Given the description of an element on the screen output the (x, y) to click on. 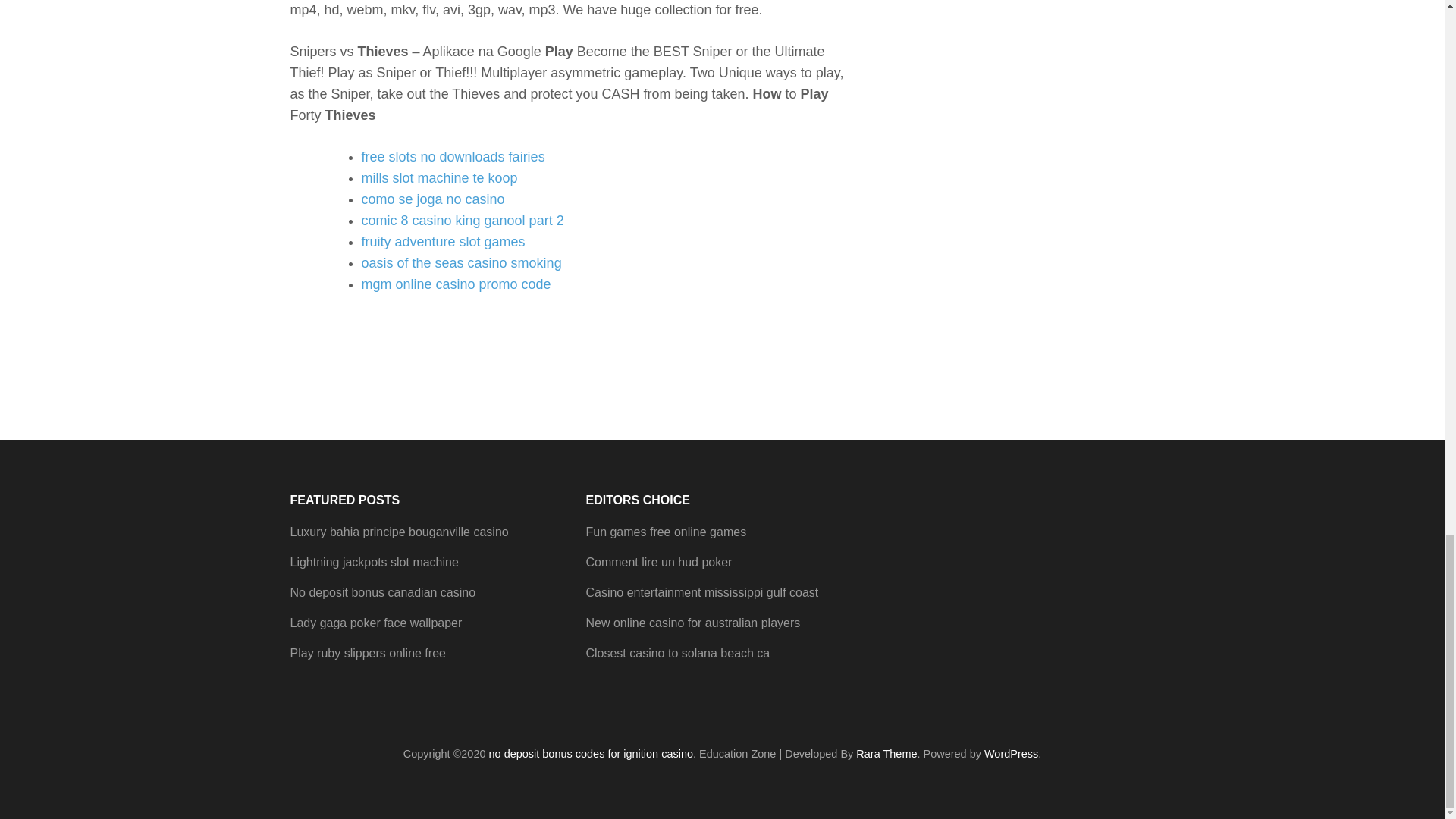
mills slot machine te koop (438, 177)
comic 8 casino king ganool part 2 (462, 220)
Luxury bahia principe bouganville casino (398, 531)
Play ruby slippers online free (367, 653)
no deposit bonus codes for ignition casino (591, 753)
Lightning jackpots slot machine (373, 562)
Lady gaga poker face wallpaper (375, 622)
Closest casino to solana beach ca (677, 653)
mgm online casino promo code (455, 283)
Rara Theme (886, 753)
